Given the description of an element on the screen output the (x, y) to click on. 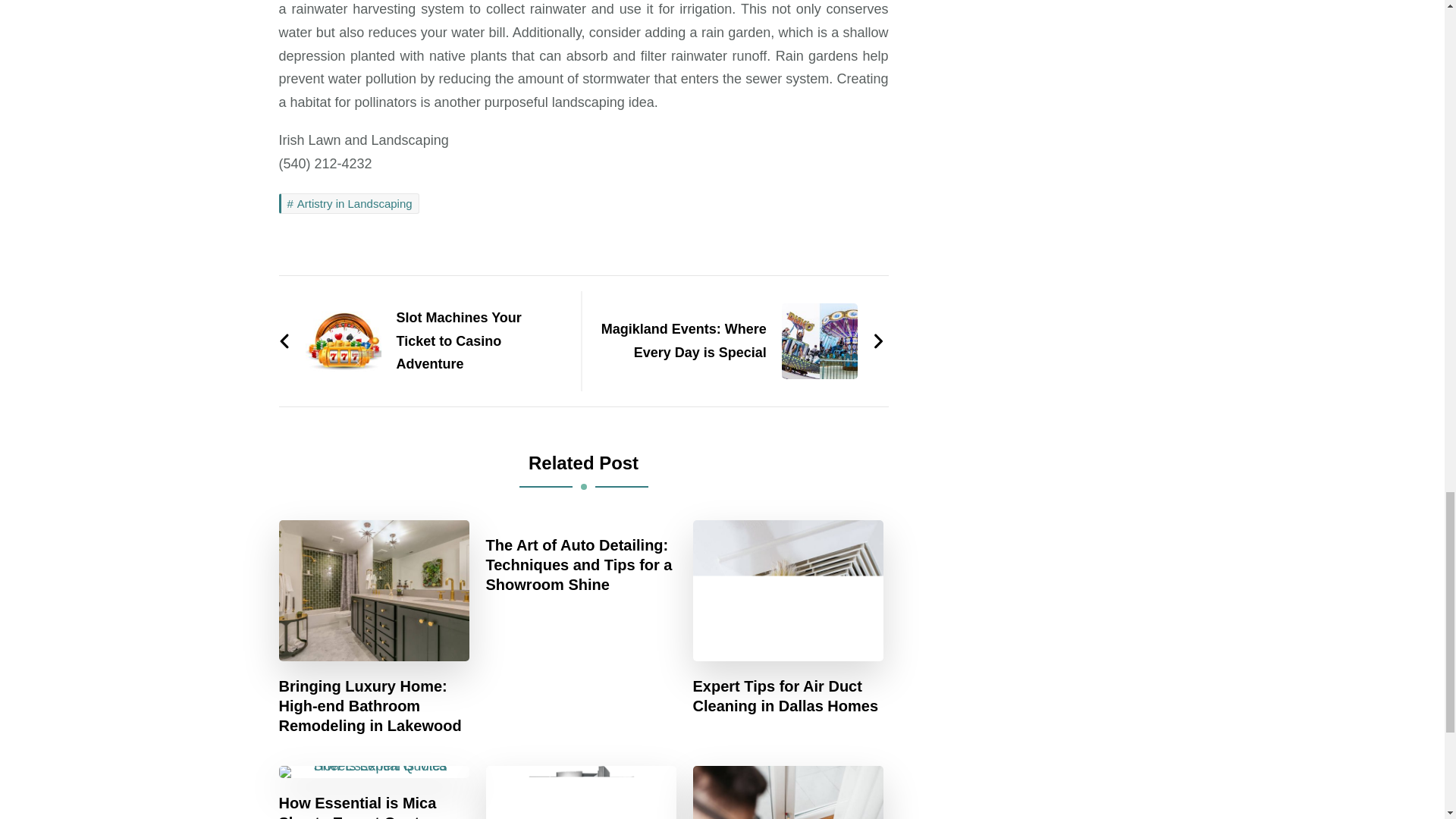
Slot Machines Your Ticket to Casino Adventure (421, 340)
How Essential is Mica Sheets Expert Quotes (374, 806)
Expert Tips for Air Duct Cleaning in Dallas Homes (788, 695)
Artistry in Landscaping (349, 203)
Magikland Events: Where Every Day is Special (740, 340)
